Given the description of an element on the screen output the (x, y) to click on. 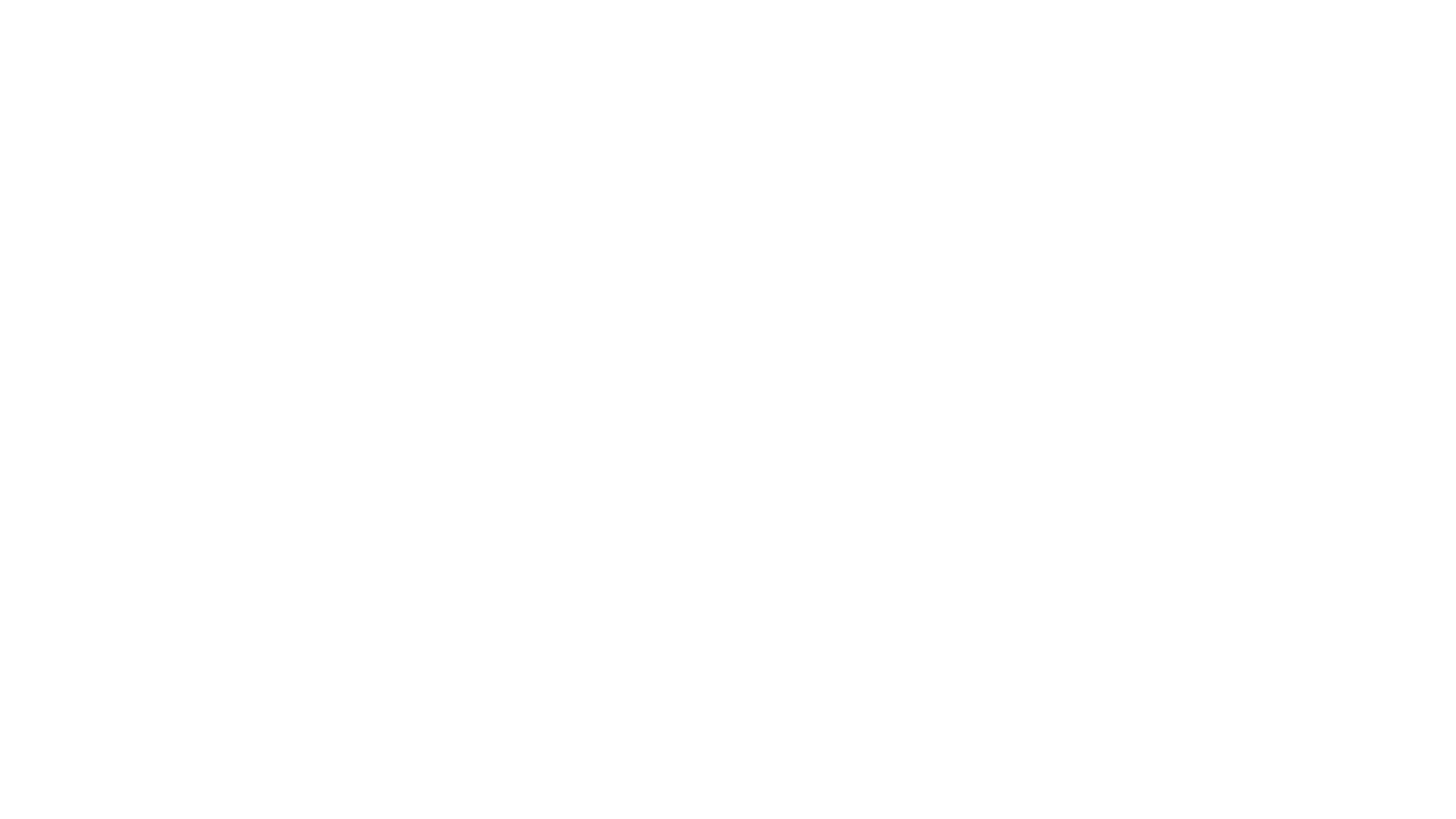
open menu Element type: text (1335, 40)
S Element type: text (149, 40)
